Given the description of an element on the screen output the (x, y) to click on. 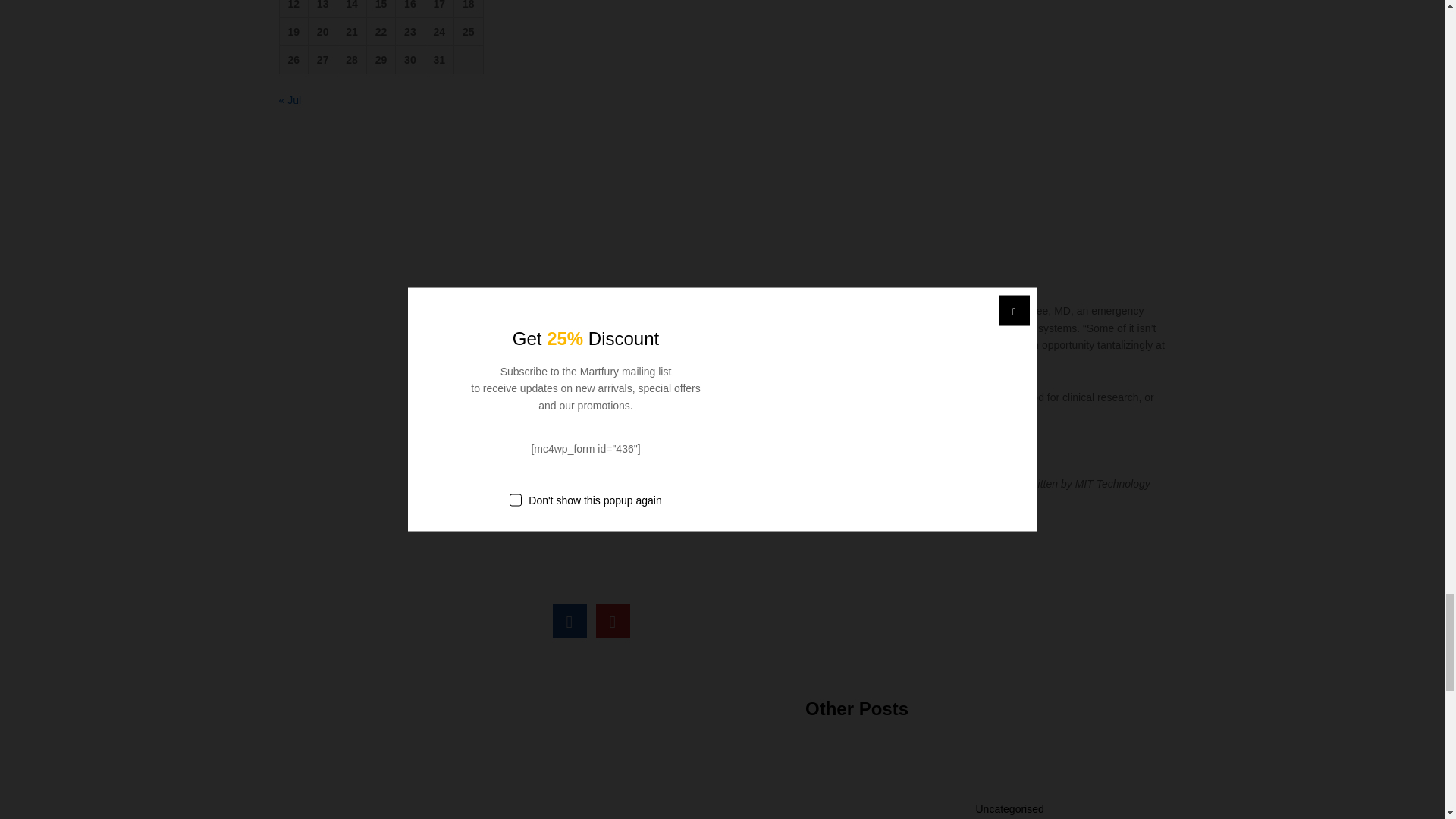
Uncategorised (1009, 808)
Download the report (595, 449)
High-quality data enables medical research (568, 620)
